Given the description of an element on the screen output the (x, y) to click on. 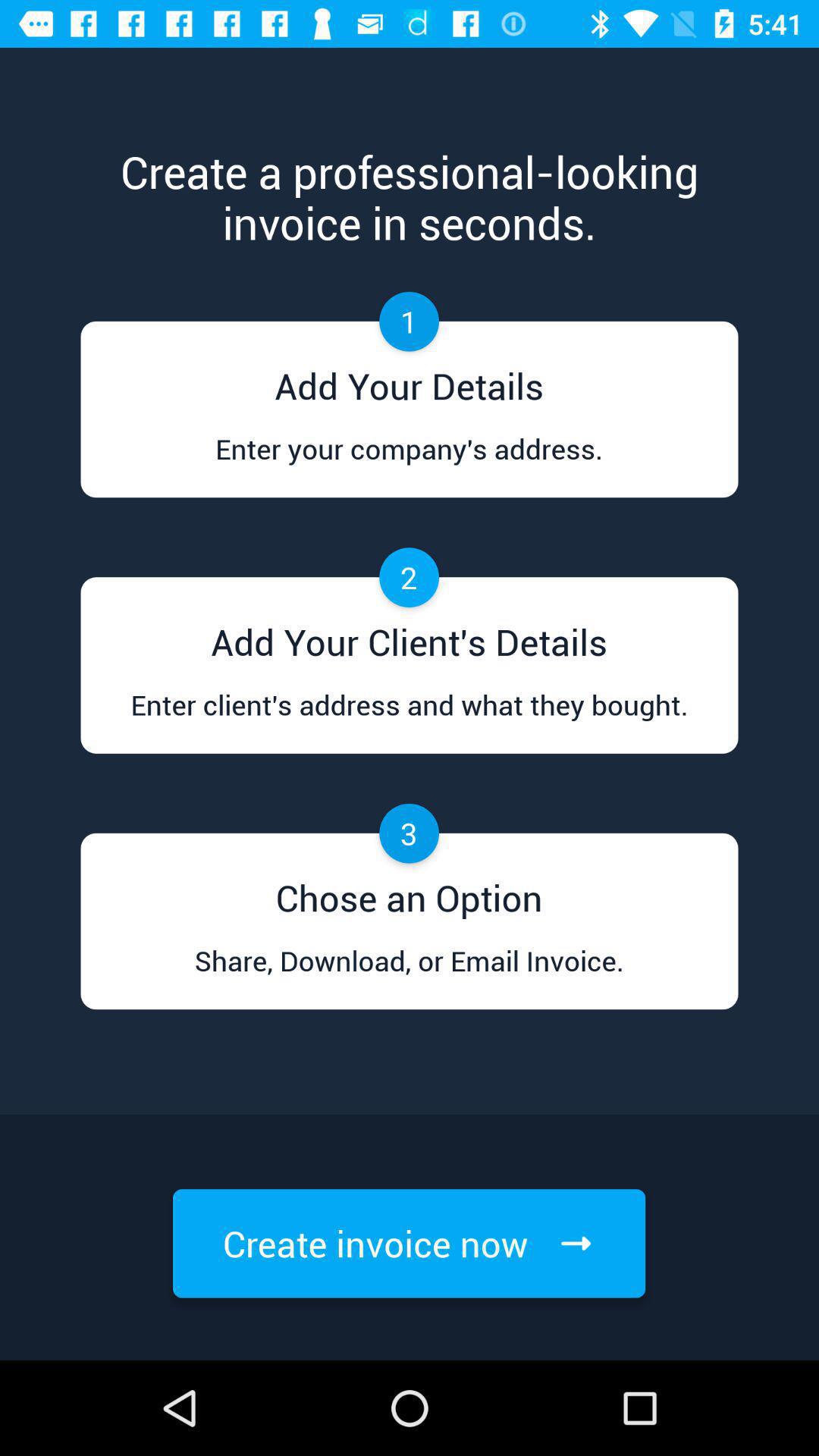
turn on enter your company item (408, 463)
